Given the description of an element on the screen output the (x, y) to click on. 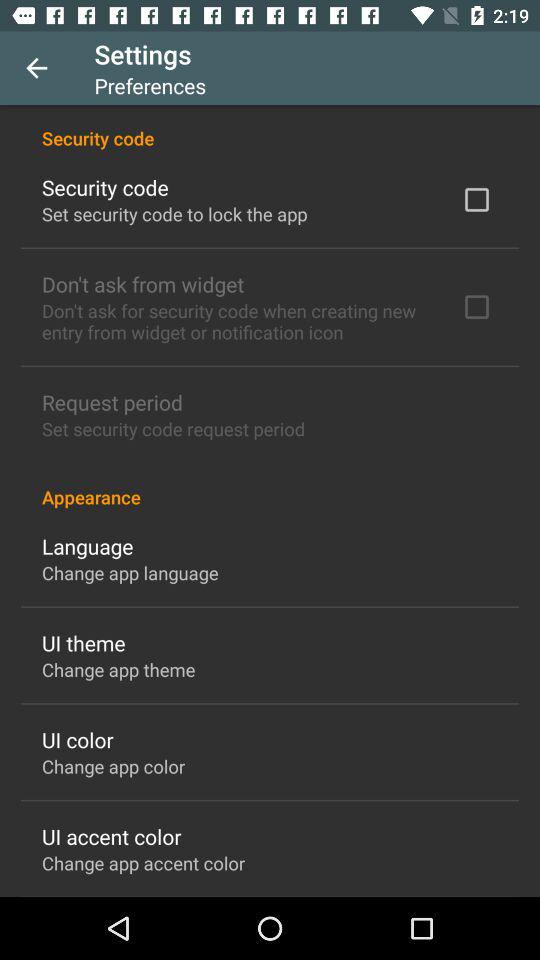
select the item above security code (36, 68)
